Given the description of an element on the screen output the (x, y) to click on. 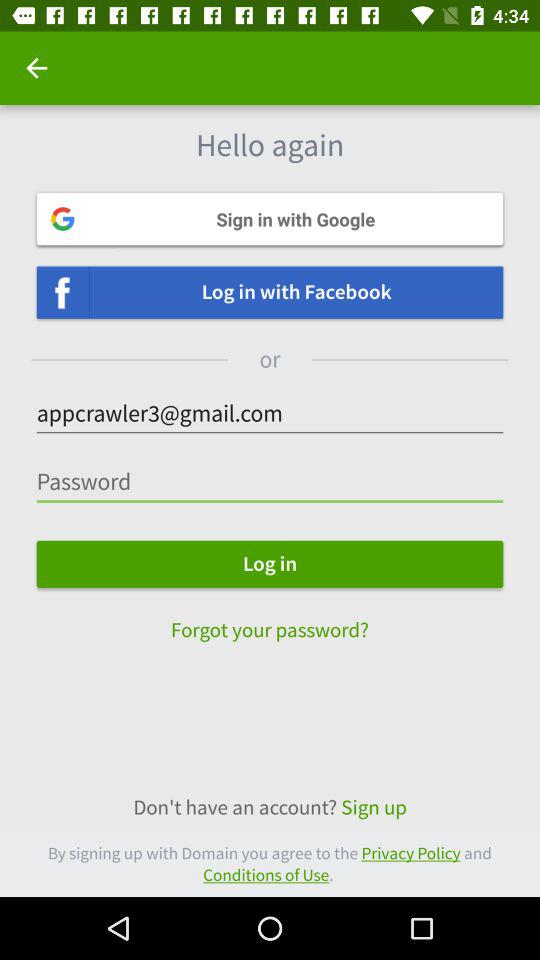
click item below log in icon (269, 619)
